Given the description of an element on the screen output the (x, y) to click on. 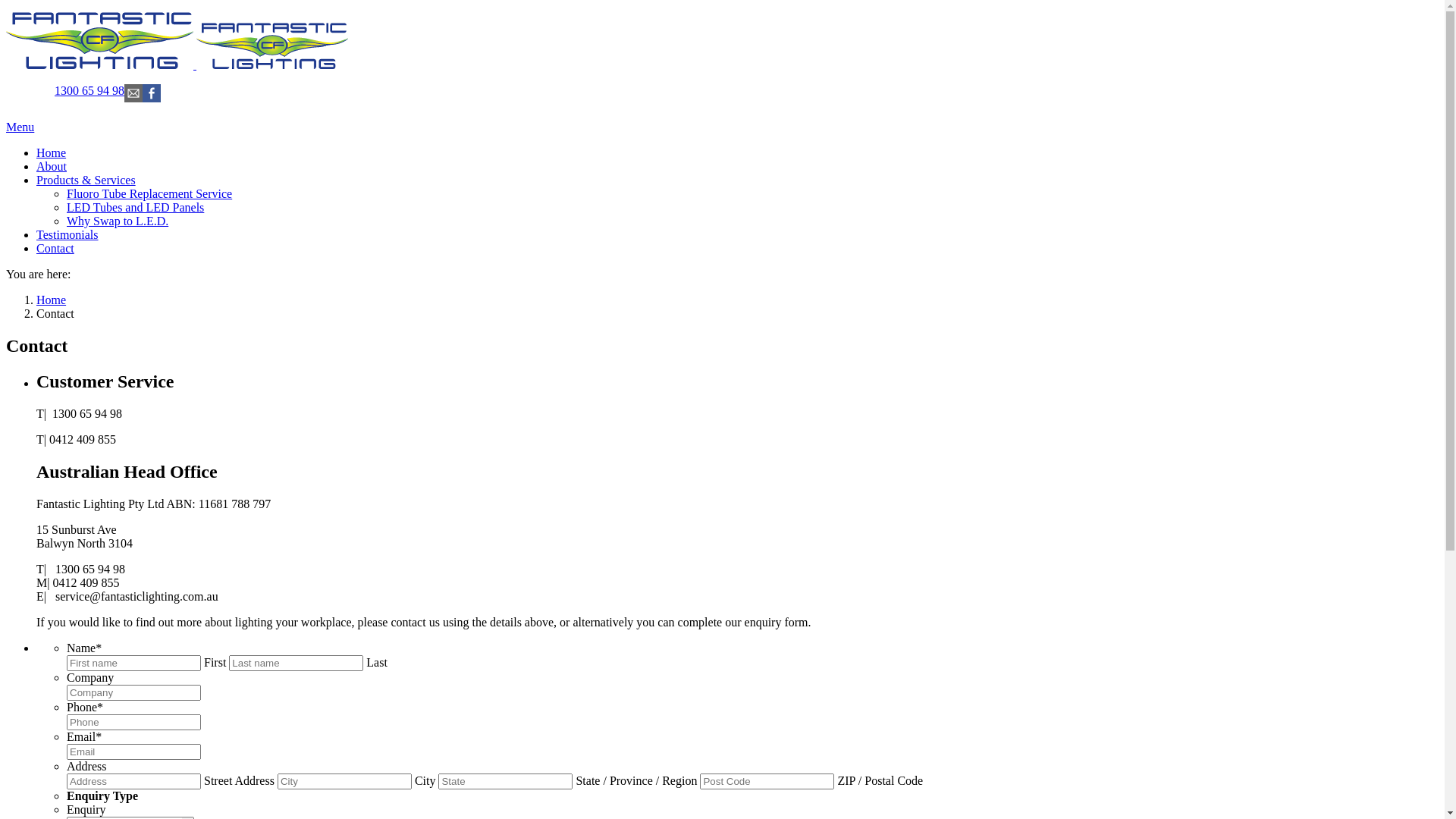
Contact Element type: text (737, 248)
Why Swap to L.E.D. Element type: text (752, 221)
Testimonials Element type: text (737, 234)
Home Element type: text (50, 299)
About Element type: text (737, 166)
Home Element type: text (737, 153)
Fluoro Tube Replacement Service Element type: text (752, 193)
1300 65 94 98 Element type: text (89, 90)
LED Tubes and LED Panels Element type: text (752, 207)
Products & Services Element type: text (737, 180)
Go back to the homepage Element type: hover (177, 64)
Menu Element type: text (20, 126)
